Given the description of an element on the screen output the (x, y) to click on. 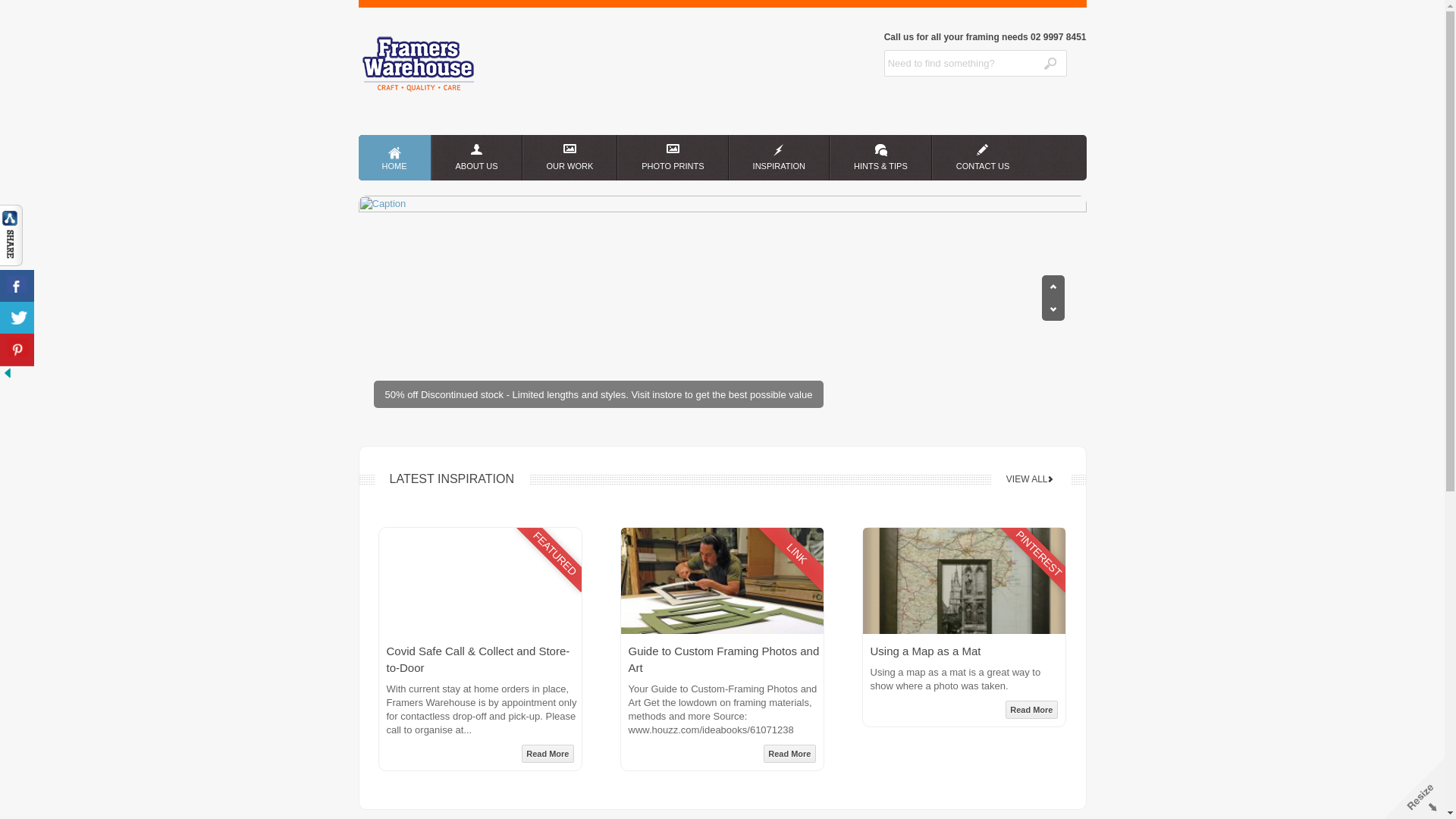
Framers Warehouse Element type: hover (423, 89)
Share On Twitter Element type: hover (17, 317)
VIEW ALL Element type: text (1027, 478)
CONTACT US Element type: text (982, 157)
Show Buttons Element type: hover (11, 262)
Share This With Your Friends Element type: hover (18, 294)
HOME Element type: text (393, 157)
Prev Element type: text (1052, 309)
OUR WORK Element type: text (570, 157)
Covid Safe Call & Collect and Store-to-Door Element type: text (478, 659)
Guide to Custom Framing Photos and Art Element type: text (723, 659)
Hide Buttons Element type: hover (7, 376)
ABOUT US Element type: text (475, 157)
Share On Pinterest Element type: hover (17, 349)
Read More Element type: text (1031, 709)
Read More Element type: text (789, 753)
Using a Map as a Mat Element type: text (925, 650)
HINTS & TIPS Element type: text (880, 157)
Caption Element type: hover (721, 309)
Read More Element type: text (547, 753)
Next Element type: text (1052, 286)
INSPIRATION Element type: text (778, 157)
PHOTO PRINTS Element type: text (672, 157)
Share On Facebook Element type: hover (17, 285)
